Given the description of an element on the screen output the (x, y) to click on. 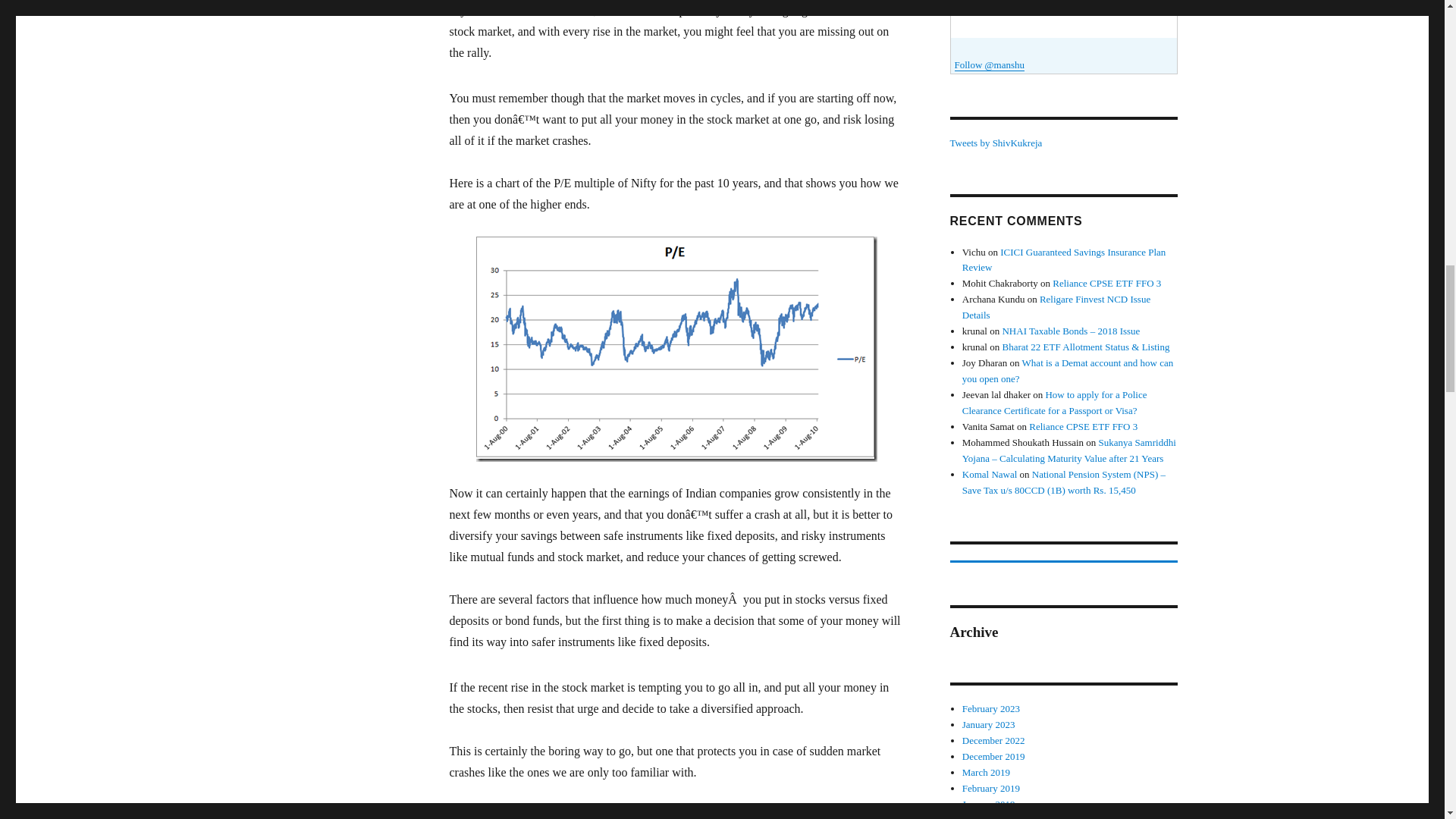
image (676, 348)
